Given the description of an element on the screen output the (x, y) to click on. 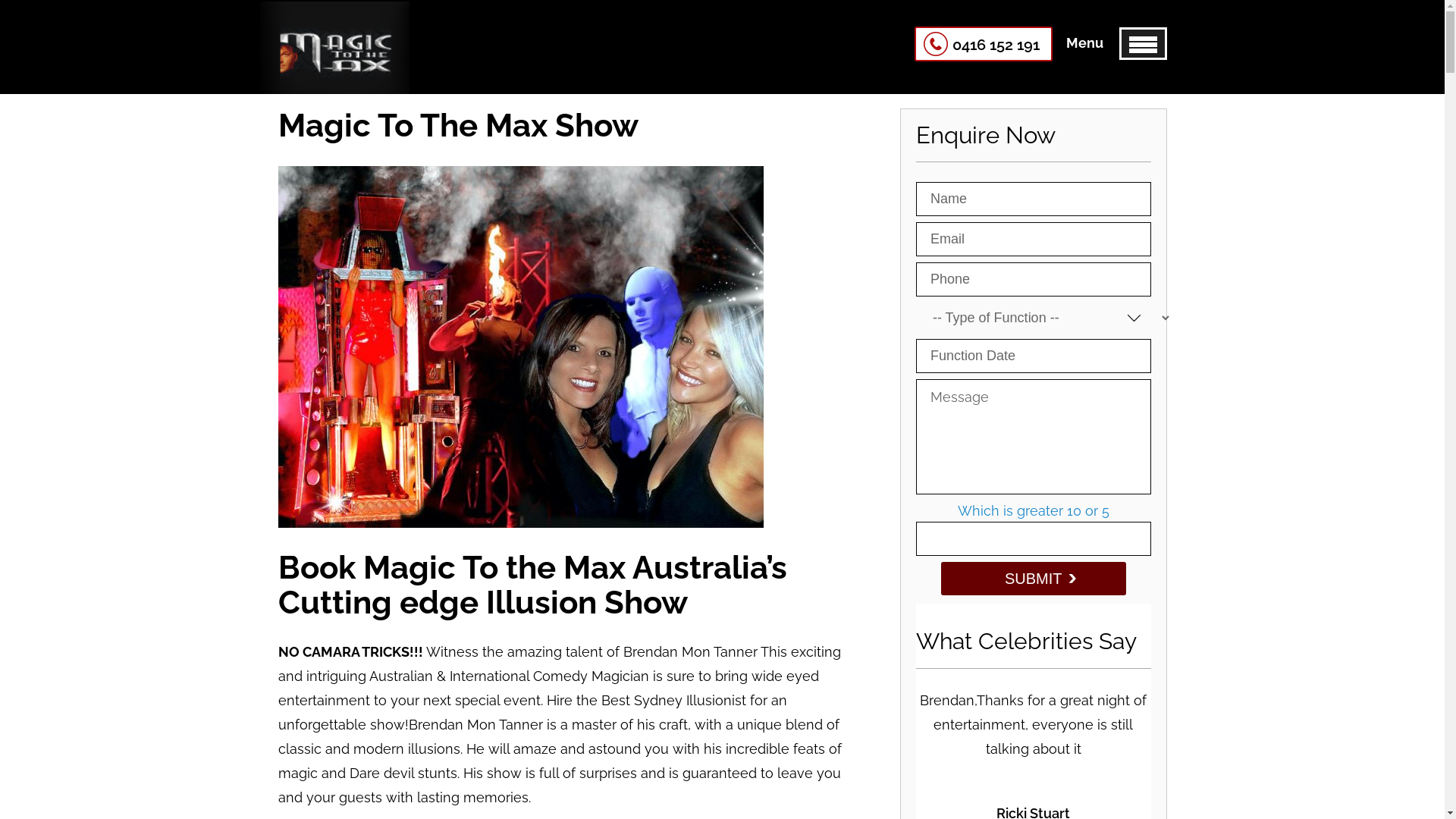
Magician Sydney Element type: hover (333, 75)
SUBMIT Element type: text (1033, 578)
Magician Sydney Element type: hover (333, 47)
0416 152 191 Element type: text (983, 43)
What Celebrities Say Element type: text (1026, 640)
